Given the description of an element on the screen output the (x, y) to click on. 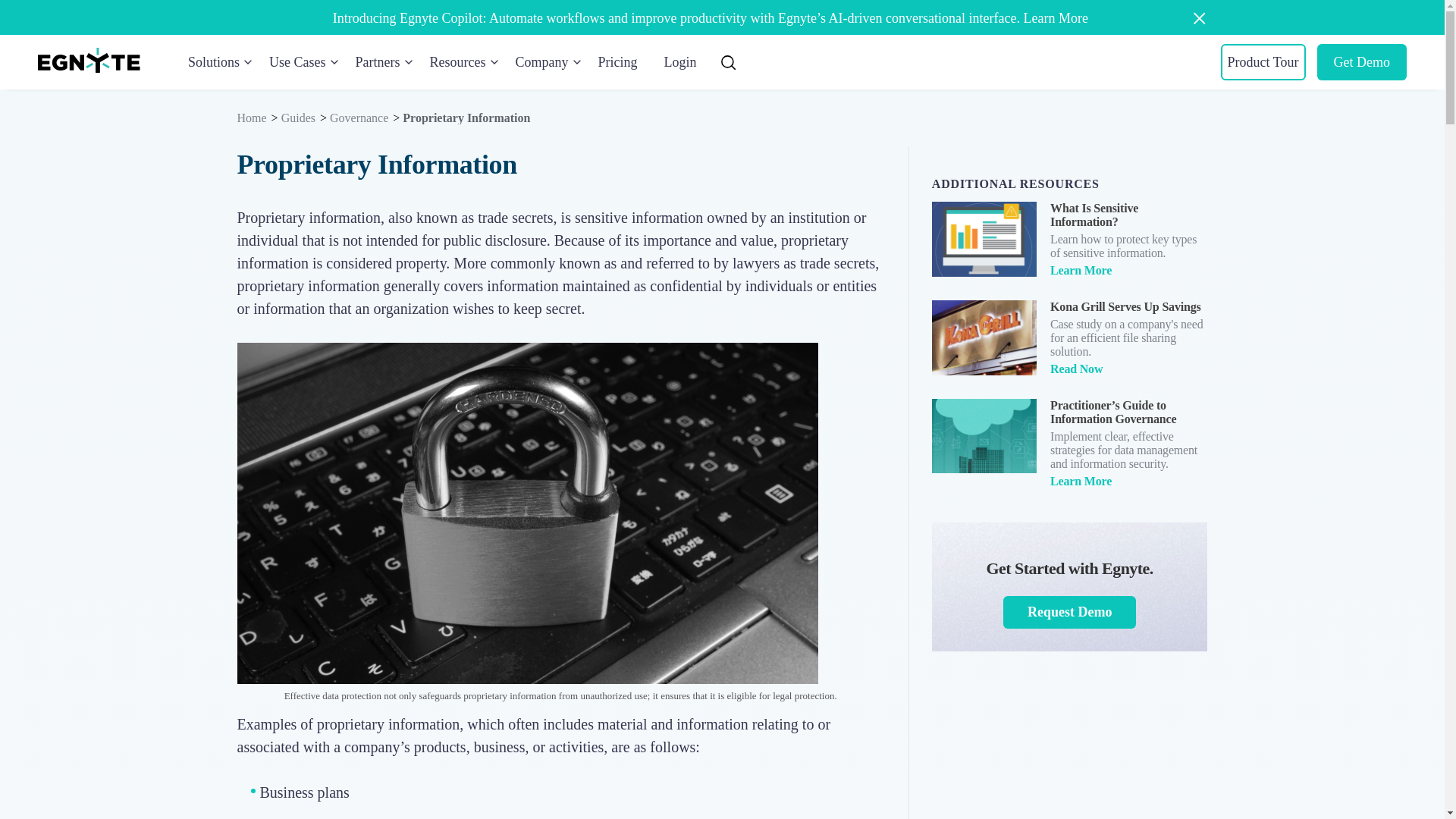
Home (88, 59)
